Given the description of an element on the screen output the (x, y) to click on. 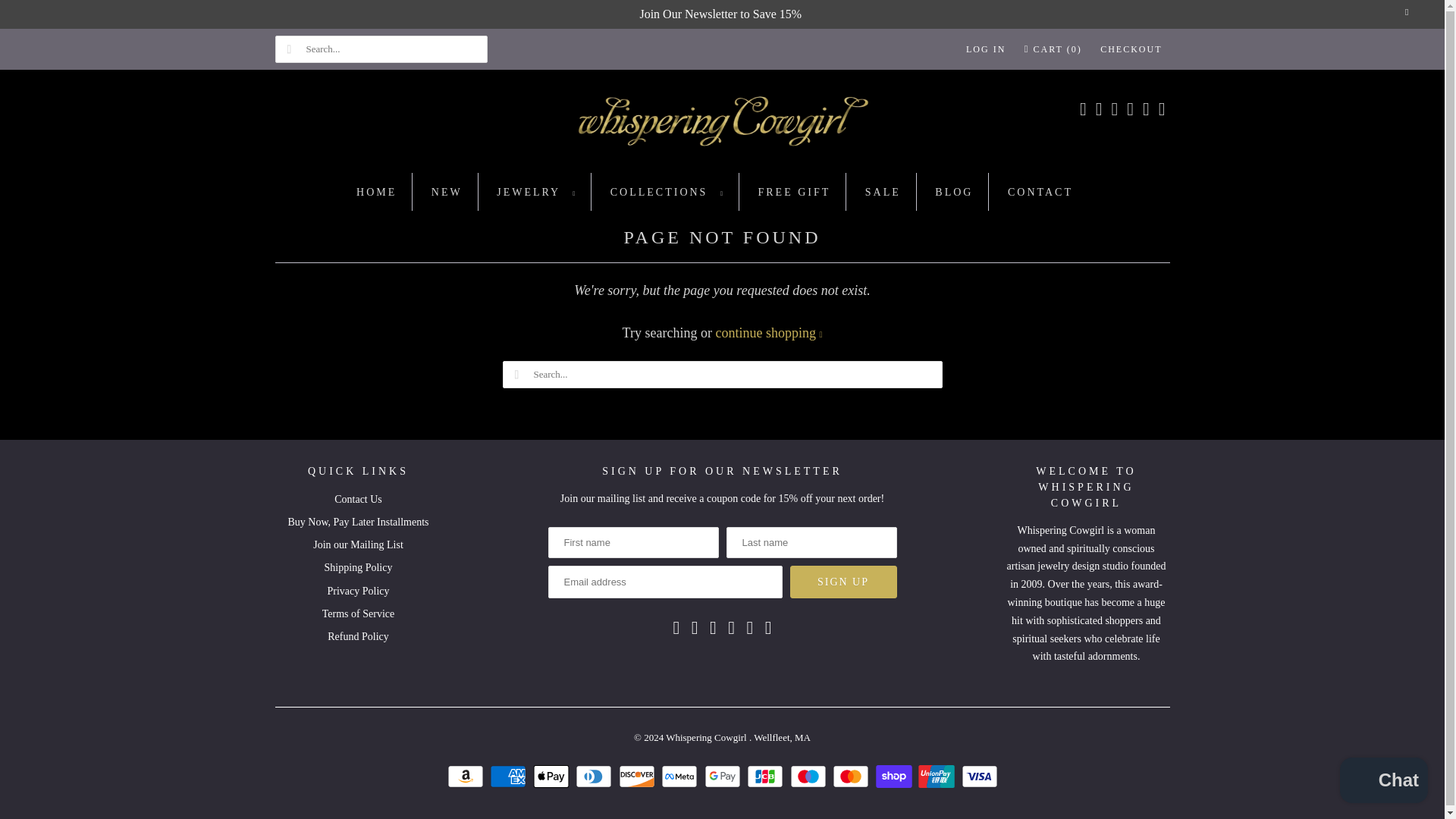
Union Pay (938, 775)
American Express (509, 775)
Sign Up (843, 581)
Apple Pay (552, 775)
Amazon (466, 775)
HOME (376, 192)
Discover (638, 775)
CHECKOUT (1130, 48)
Whispering Cowgirl  (722, 125)
Diners Club (595, 775)
